Given the description of an element on the screen output the (x, y) to click on. 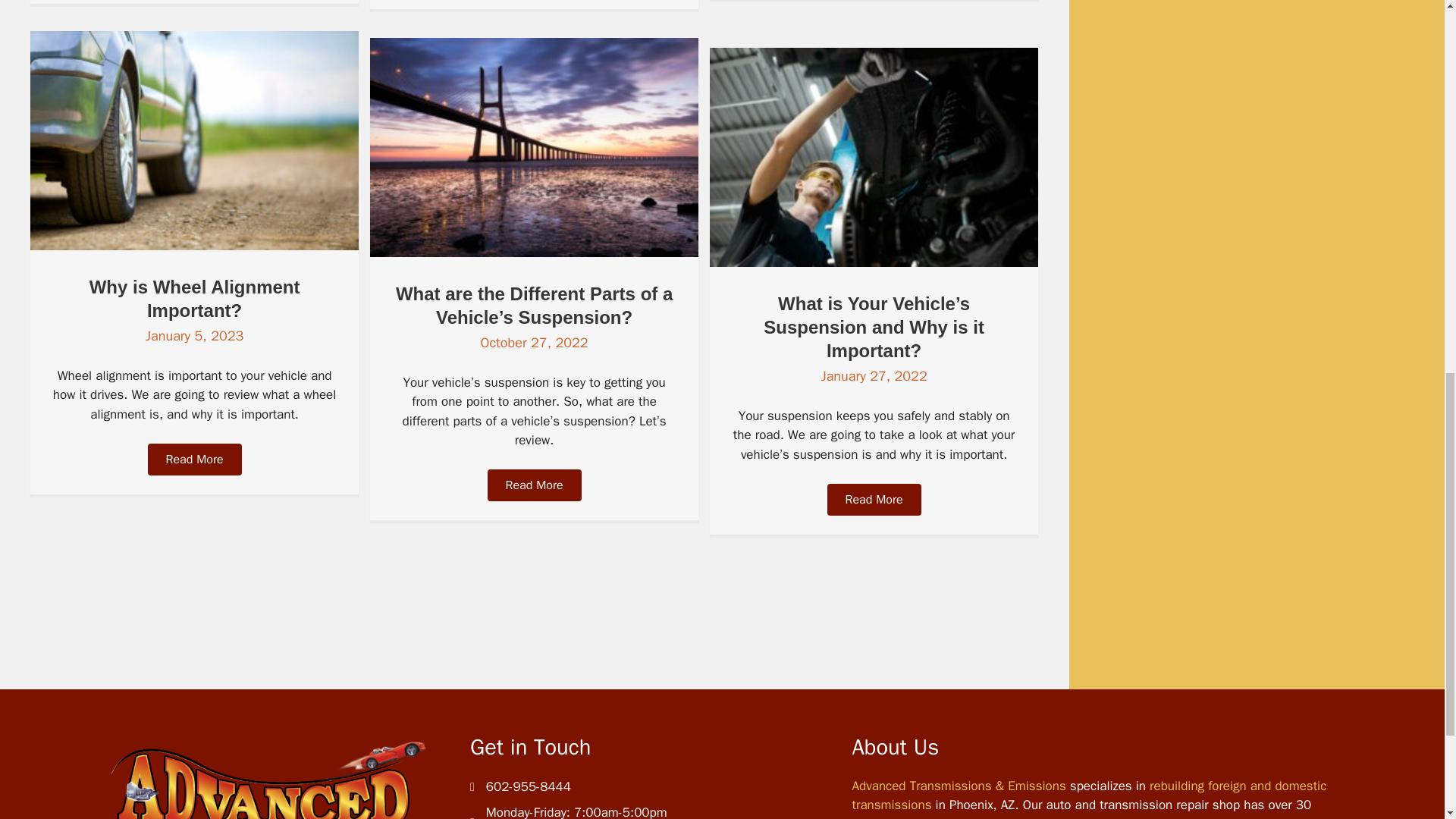
Why is Wheel Alignment Important? (193, 298)
Read More (194, 459)
Why is Wheel Alignment Important? (193, 298)
Why is Wheel Alignment Important? (194, 245)
